Given the description of an element on the screen output the (x, y) to click on. 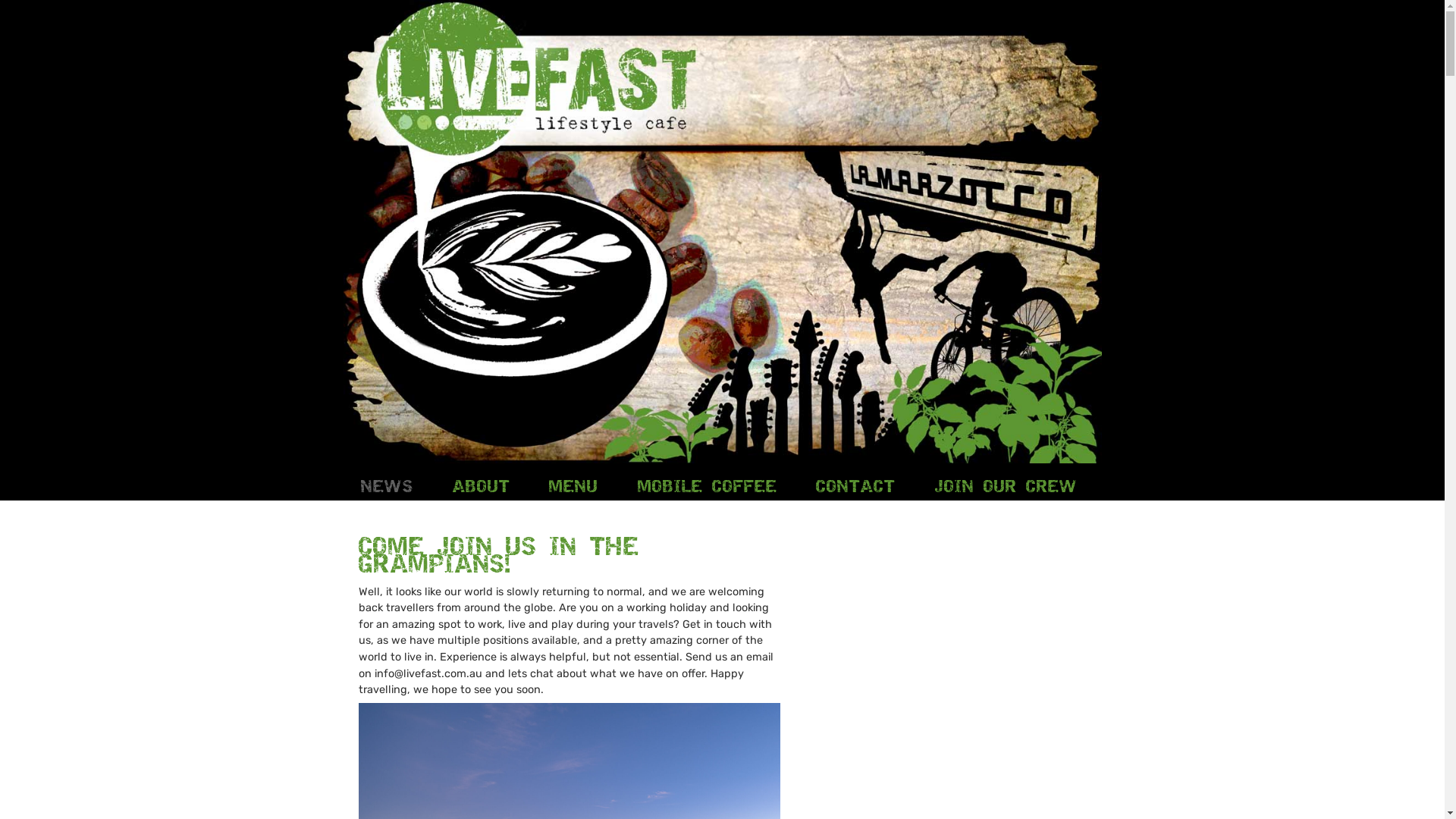
CONTACT Element type: text (855, 485)
ABOUT Element type: text (481, 484)
JOIN OUR CREW Element type: text (1005, 485)
MENU Element type: text (573, 485)
COME JOIN US IN THE GRAMPIANS! Element type: text (497, 554)
MOBILE COFFEE Element type: text (707, 485)
NEWS Element type: text (386, 485)
